Given the description of an element on the screen output the (x, y) to click on. 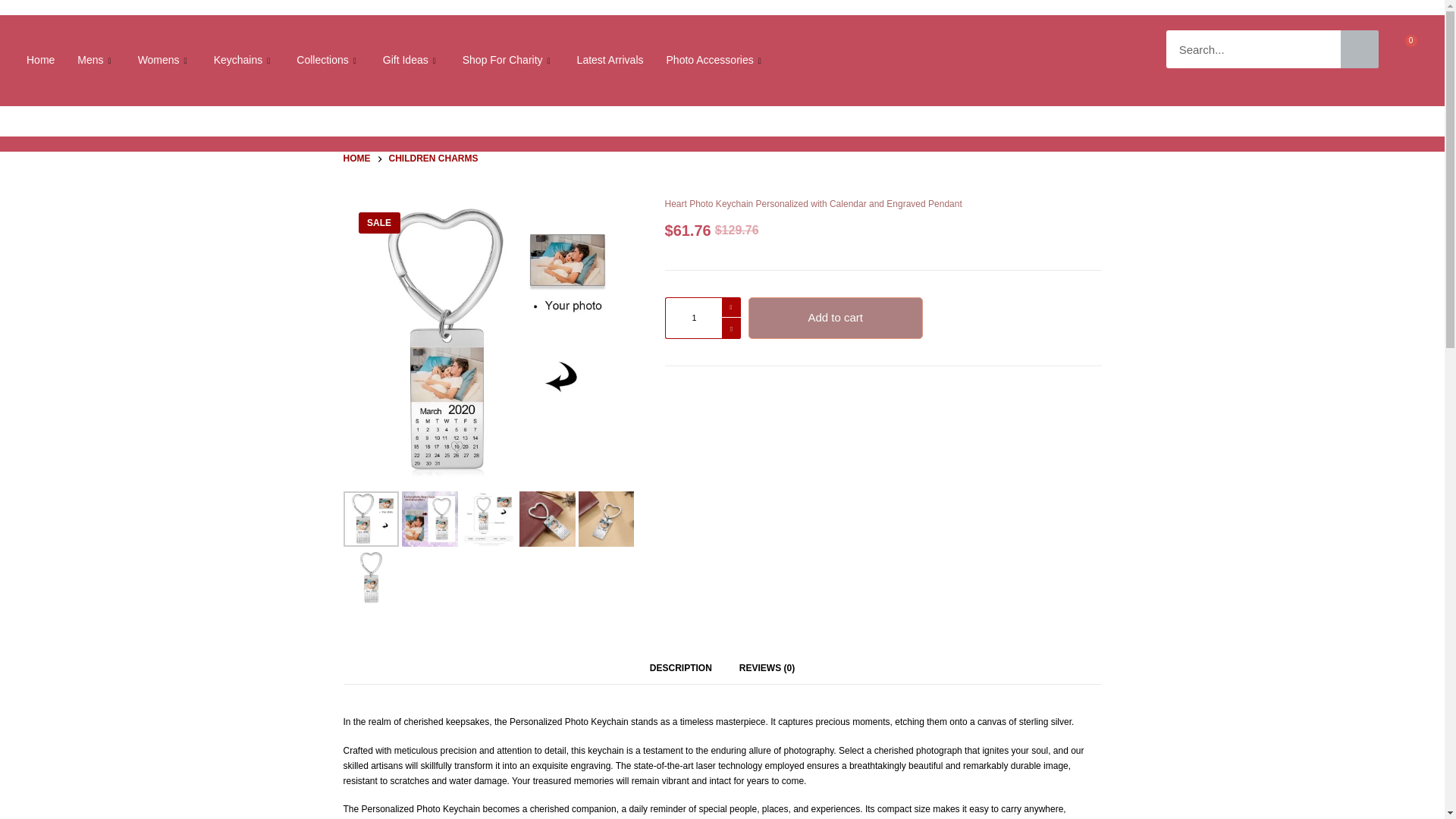
Mens (95, 60)
Womens (164, 60)
1 (701, 318)
